Given the description of an element on the screen output the (x, y) to click on. 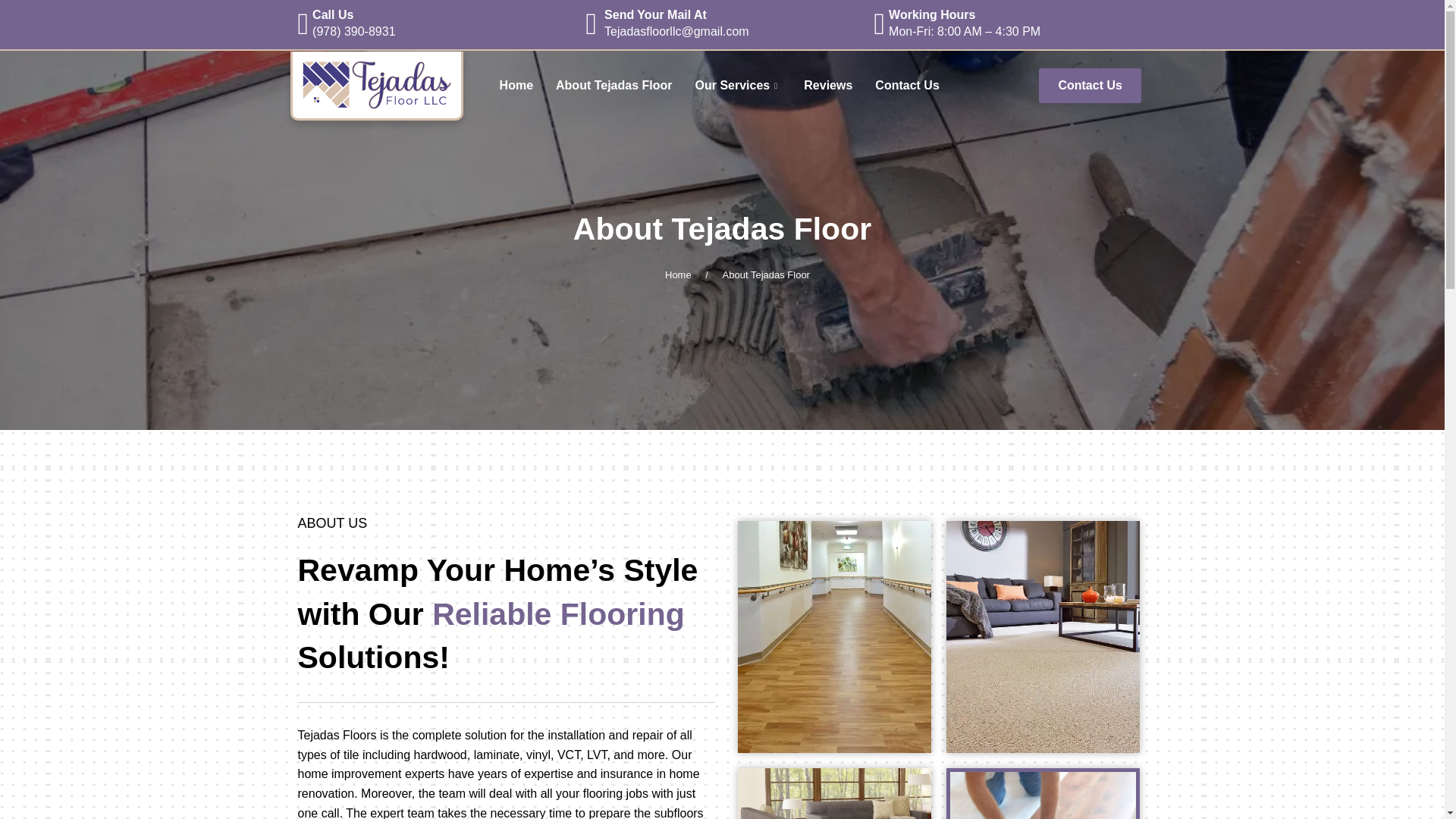
Contact Us (906, 85)
Home (685, 272)
Home (515, 85)
Our Services (738, 85)
Reviews (827, 85)
Home (679, 275)
Contact Us (1089, 85)
About Tejadas Floor (613, 85)
About Tejadas Floor (767, 272)
About Tejadas Floor (765, 275)
